Given the description of an element on the screen output the (x, y) to click on. 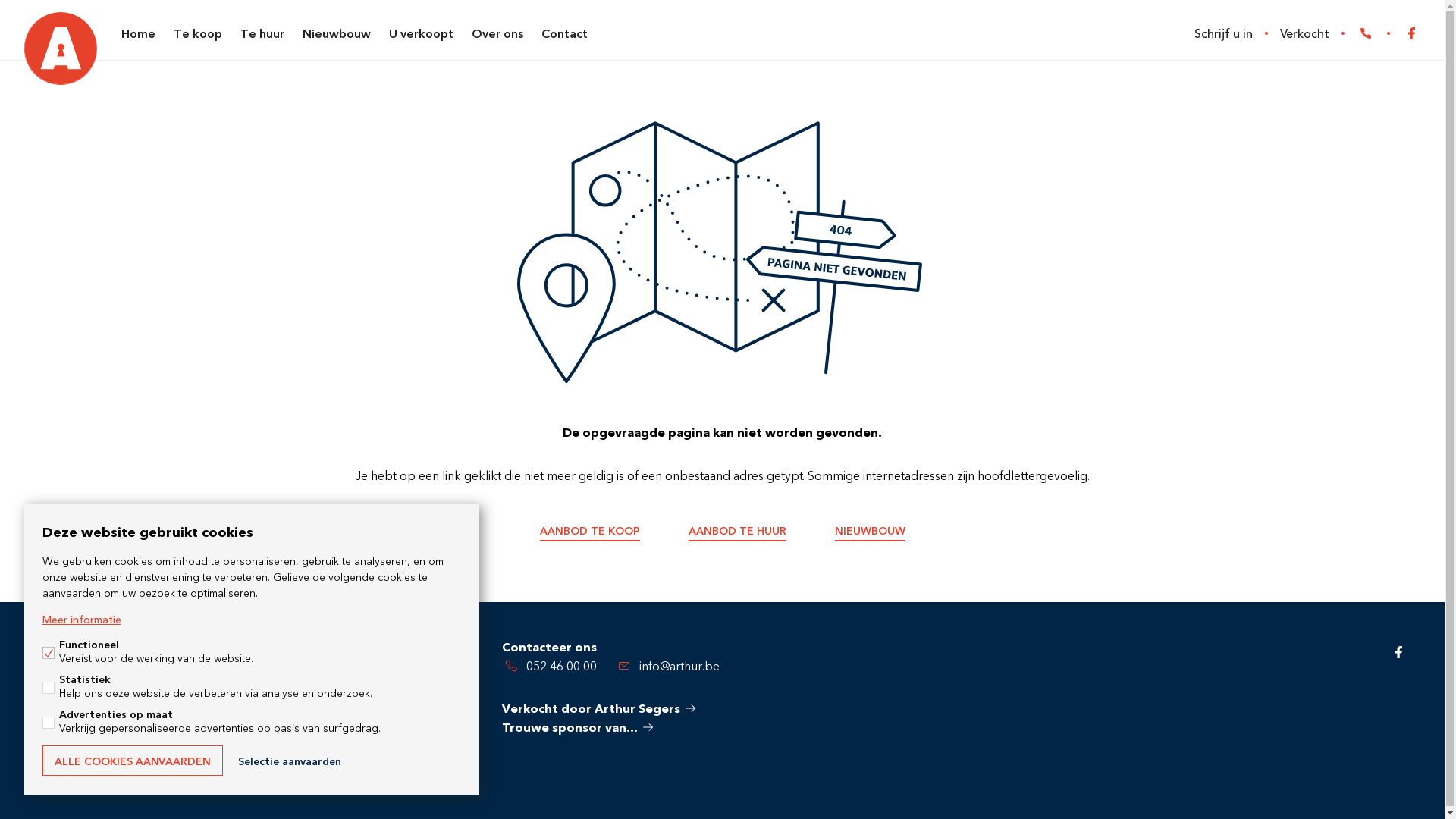
Schrijf u in Element type: text (1223, 33)
Verkocht door Arthur Segers Element type: text (598, 708)
Selectie aanvaarden Element type: text (289, 761)
Privacy Element type: text (198, 771)
Over ons Element type: text (497, 33)
Cookies Element type: text (262, 771)
Arthur Segers Element type: text (60, 48)
052 46 00 00 Element type: text (1368, 33)
Home Element type: text (138, 33)
Facebook Element type: text (1399, 652)
NIEUWBOUW Element type: text (869, 531)
FW4 Element type: text (424, 774)
Cookies wijzigen Element type: text (350, 771)
Nieuwbouw Element type: text (336, 33)
Contact Element type: text (564, 33)
Verkocht Element type: text (1304, 33)
U verkoopt Element type: text (421, 33)
Algemene voorwaarden Element type: text (94, 771)
Trouwe sponsor van... Element type: text (577, 727)
AANBOD TE HUUR Element type: text (737, 531)
ALLE COOKIES AANVAARDEN Element type: text (132, 760)
Te huur Element type: text (262, 33)
Te koop Element type: text (197, 33)
Meer informatie Element type: text (81, 618)
AANBOD TE KOOP Element type: text (589, 531)
